Given the description of an element on the screen output the (x, y) to click on. 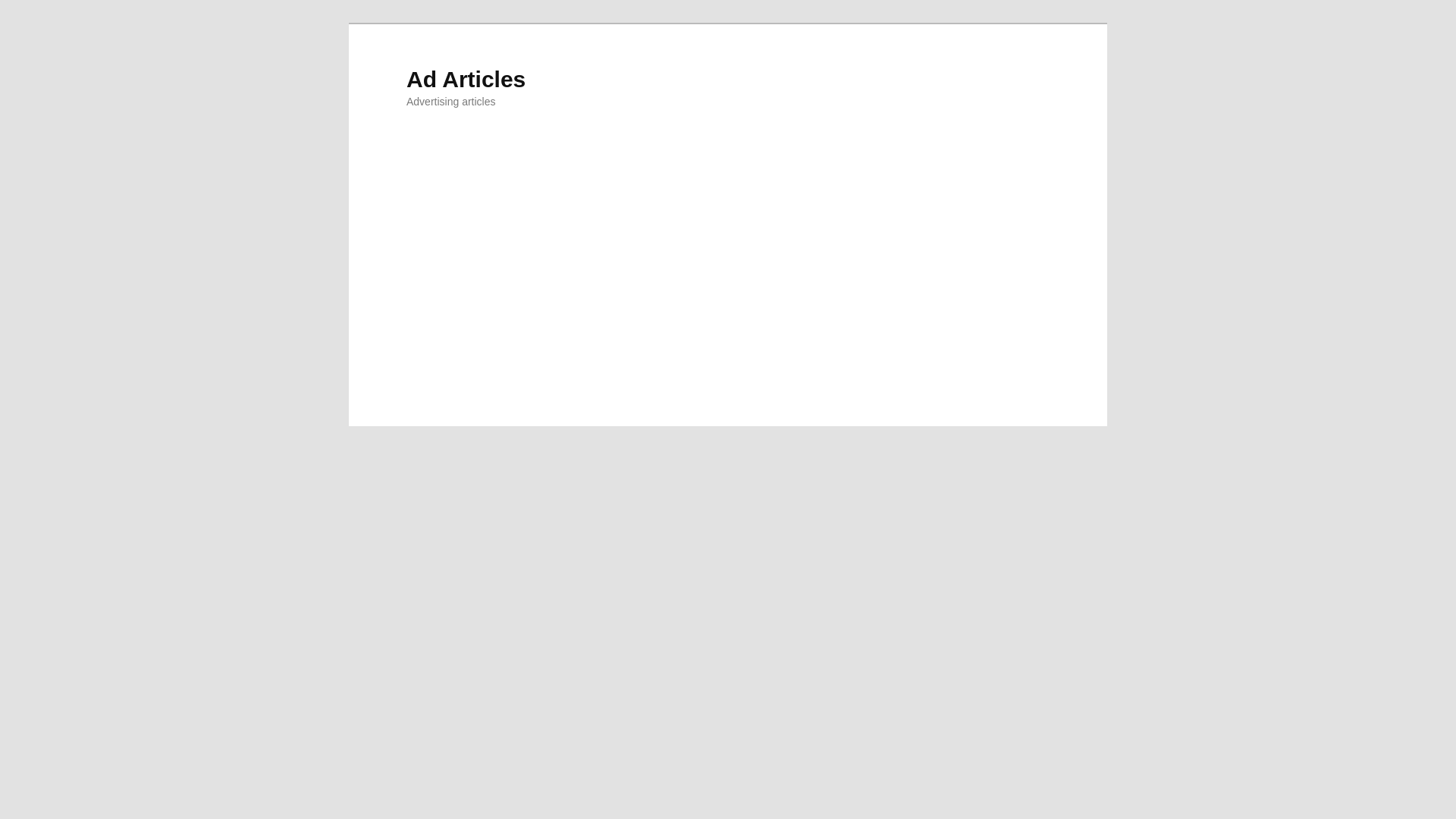
Ad Articles (465, 78)
